Given the description of an element on the screen output the (x, y) to click on. 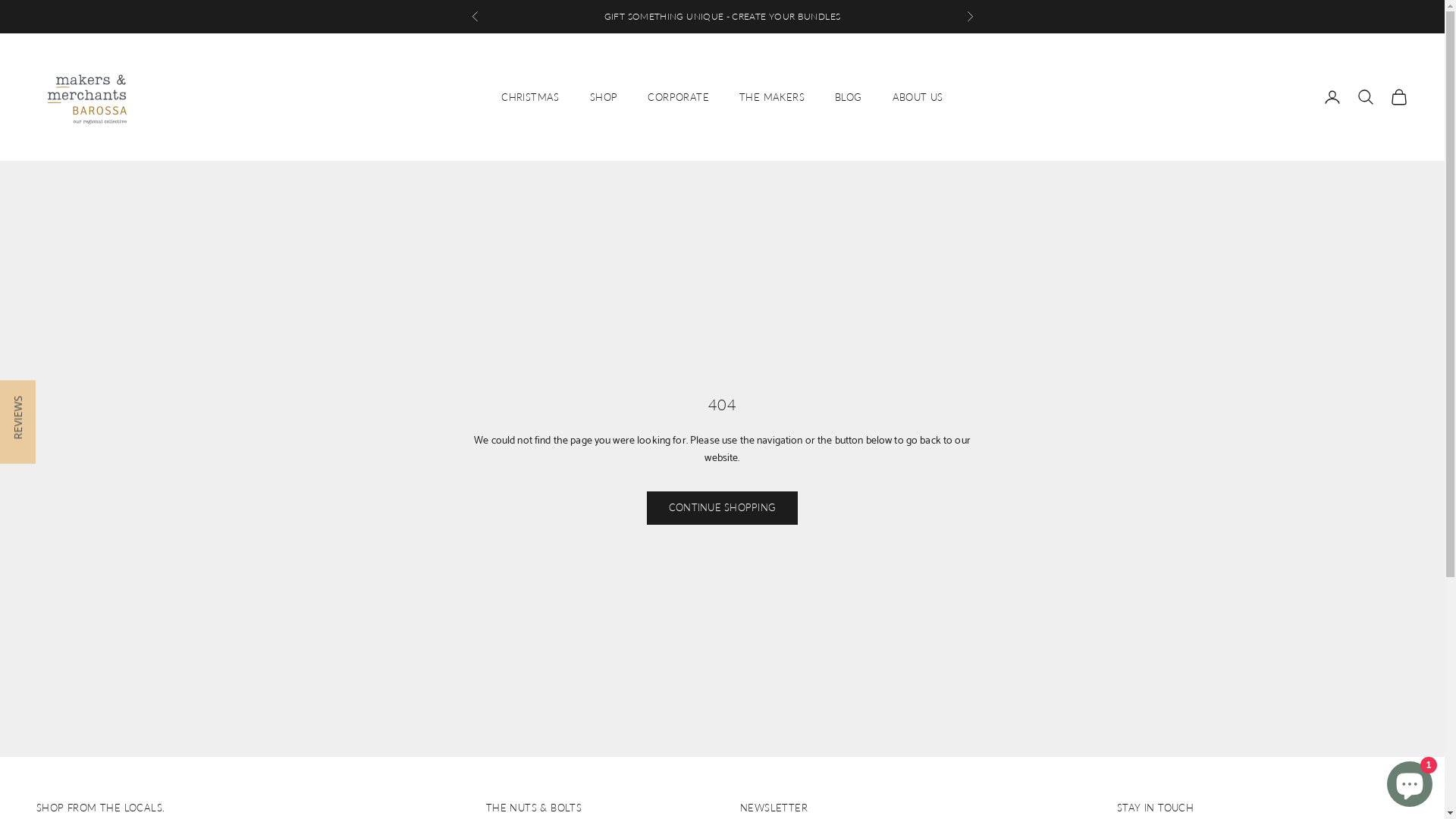
Makers & Merchants Barossa Element type: text (85, 96)
Shopify online store chat Element type: hover (1409, 780)
CONTINUE SHOPPING Element type: text (721, 507)
Open cart Element type: text (1399, 96)
CHRISTMAS Element type: text (530, 96)
Previous Element type: text (474, 16)
Open search Element type: text (1365, 96)
Open account page Element type: text (1332, 96)
Next Element type: text (968, 16)
